Given the description of an element on the screen output the (x, y) to click on. 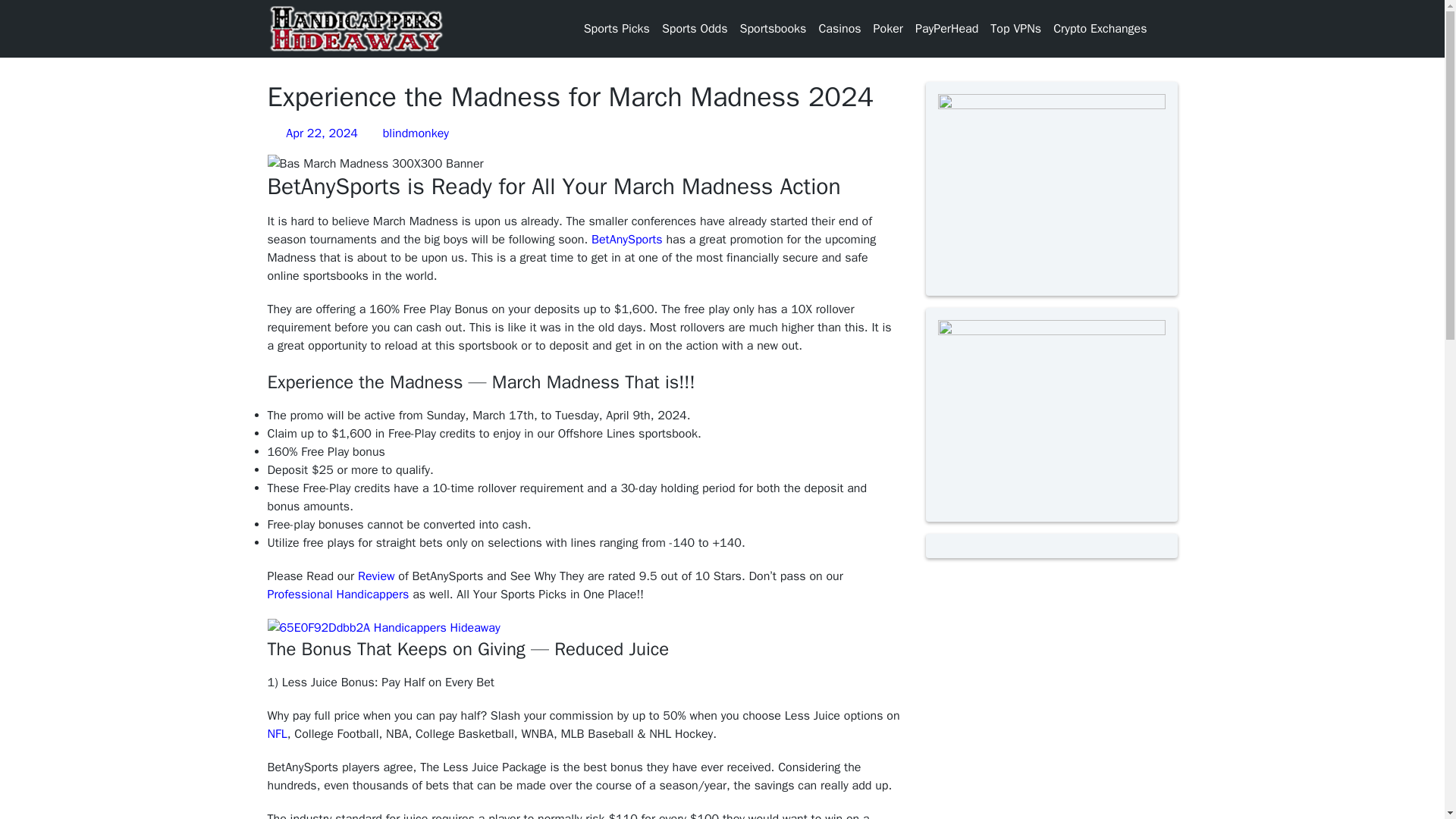
Highway Casino (838, 73)
Reliable Sportsbooks (771, 128)
Betplay (836, 46)
NHL Odds (687, 137)
Sports Picks (616, 28)
NFL Odds (686, 264)
YouWager (898, 137)
OC88 Casino (851, 101)
MLB Odds (687, 101)
Everygame Sportsbook Review (902, 82)
